Given the description of an element on the screen output the (x, y) to click on. 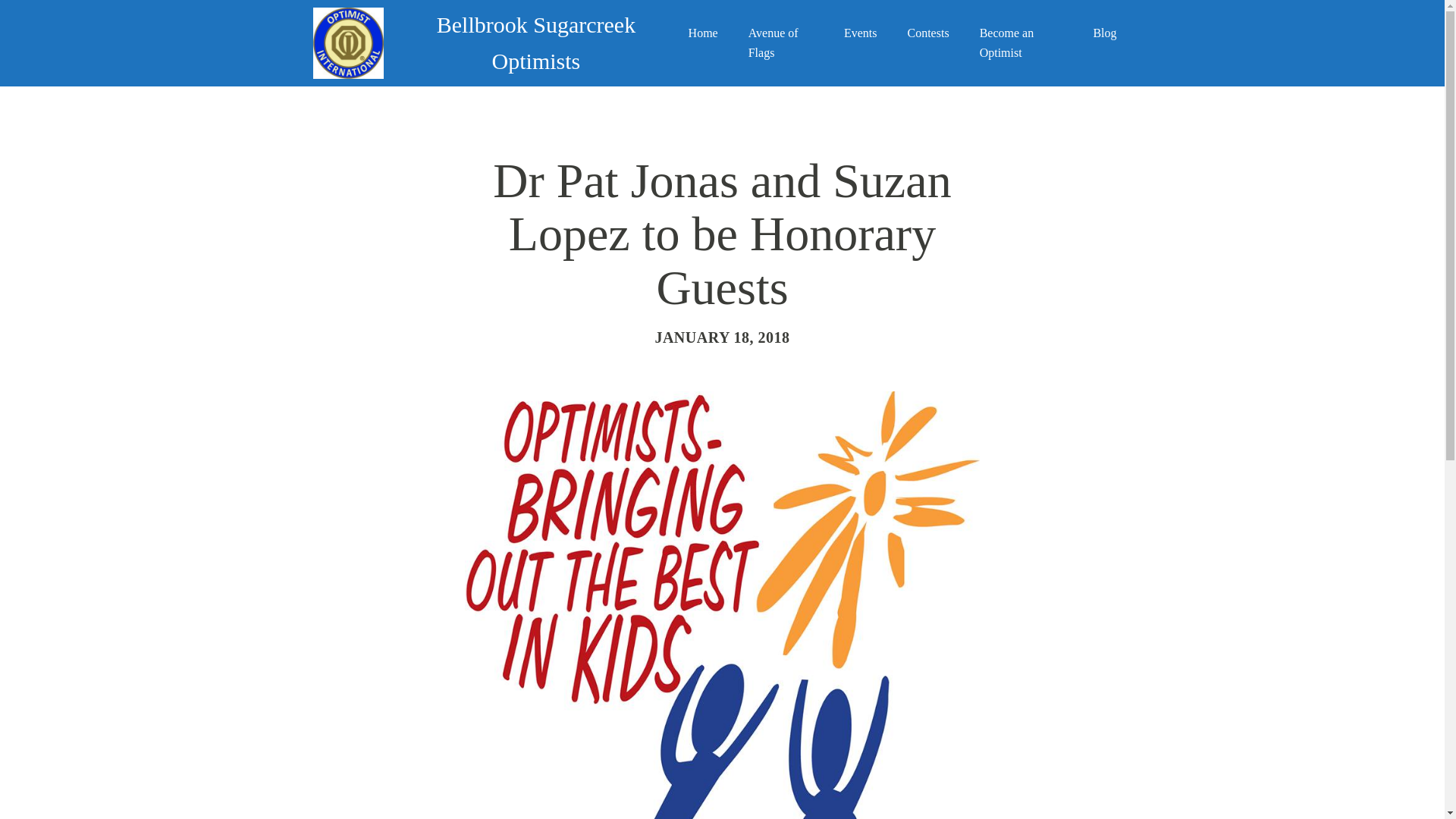
Avenue of Flags (780, 42)
Events (860, 33)
Home (702, 33)
Blog (1104, 33)
Become an Optimist (1020, 42)
Contests (927, 33)
